Given the description of an element on the screen output the (x, y) to click on. 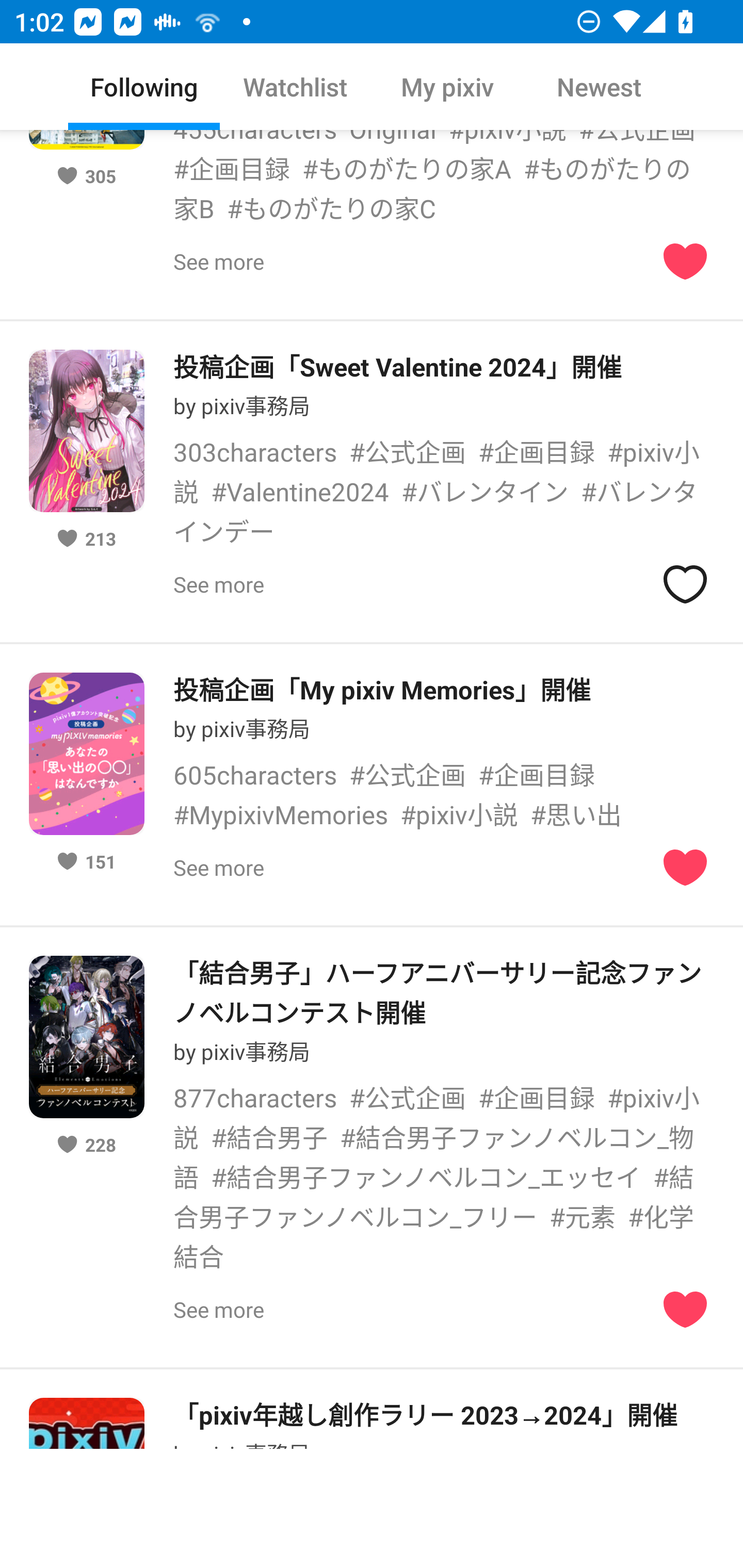
Watchlist (295, 86)
My pixiv (447, 86)
Newest (598, 86)
